Given the description of an element on the screen output the (x, y) to click on. 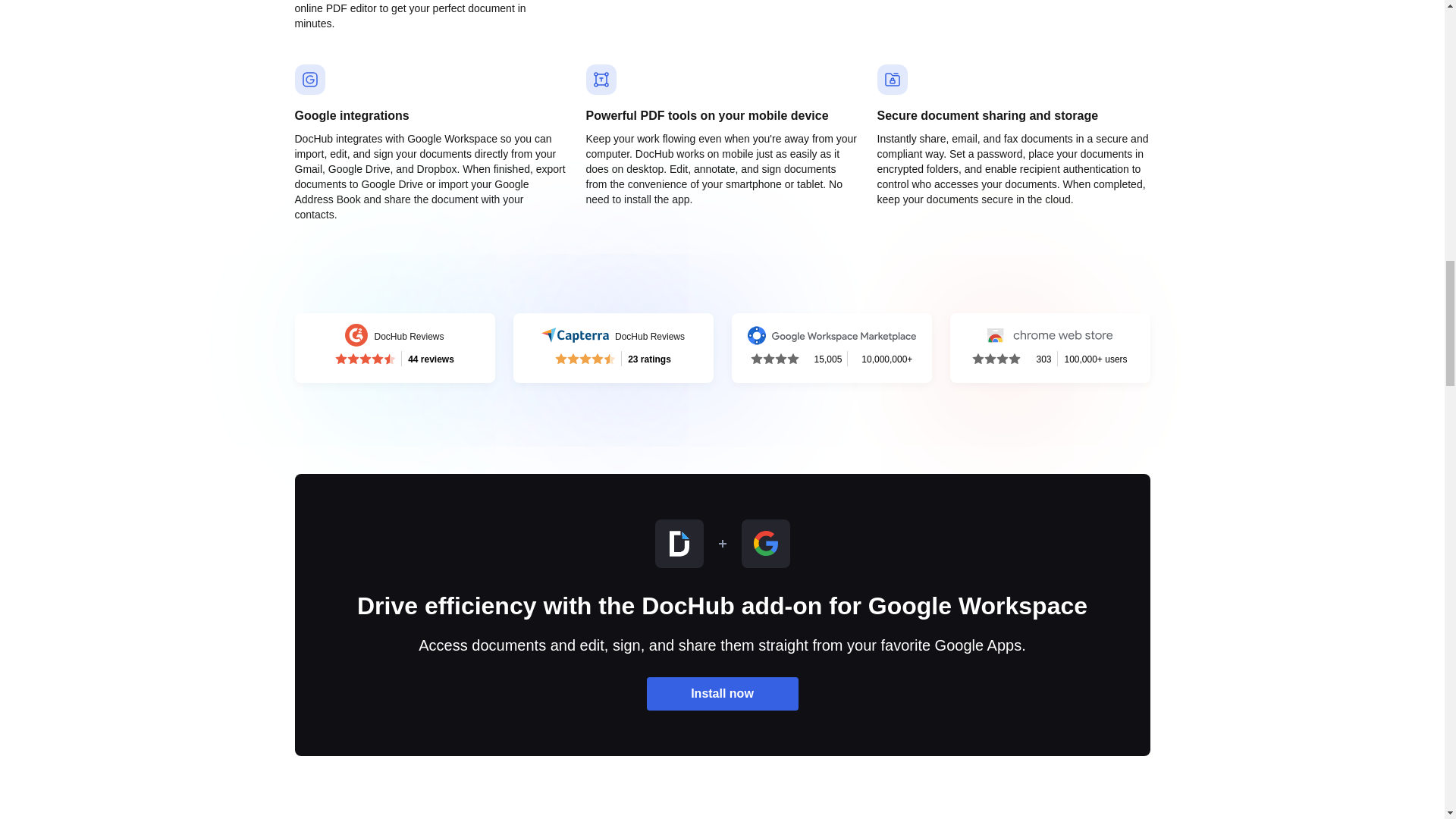
Install now (612, 347)
